Given the description of an element on the screen output the (x, y) to click on. 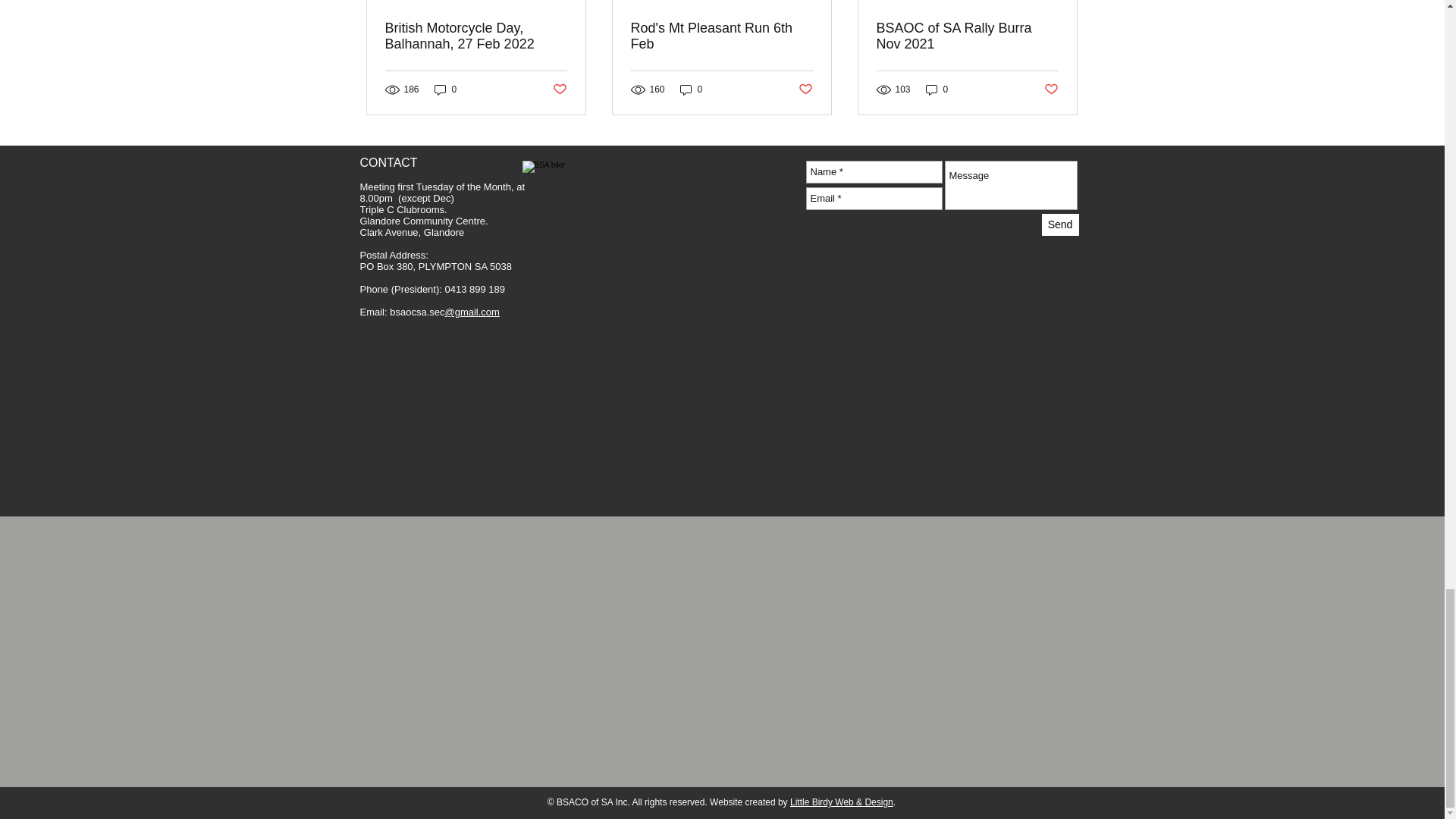
Rod's Mt Pleasant Run 6th Feb (721, 36)
Post not marked as liked (804, 89)
0 (445, 89)
0 (691, 89)
Post not marked as liked (558, 89)
Post not marked as liked (1050, 89)
0 (937, 89)
BSAOC of SA Rally Burra Nov 2021 (967, 36)
Send (1060, 224)
British Motorcycle Day, Balhannah, 27 Feb 2022 (476, 36)
